Given the description of an element on the screen output the (x, y) to click on. 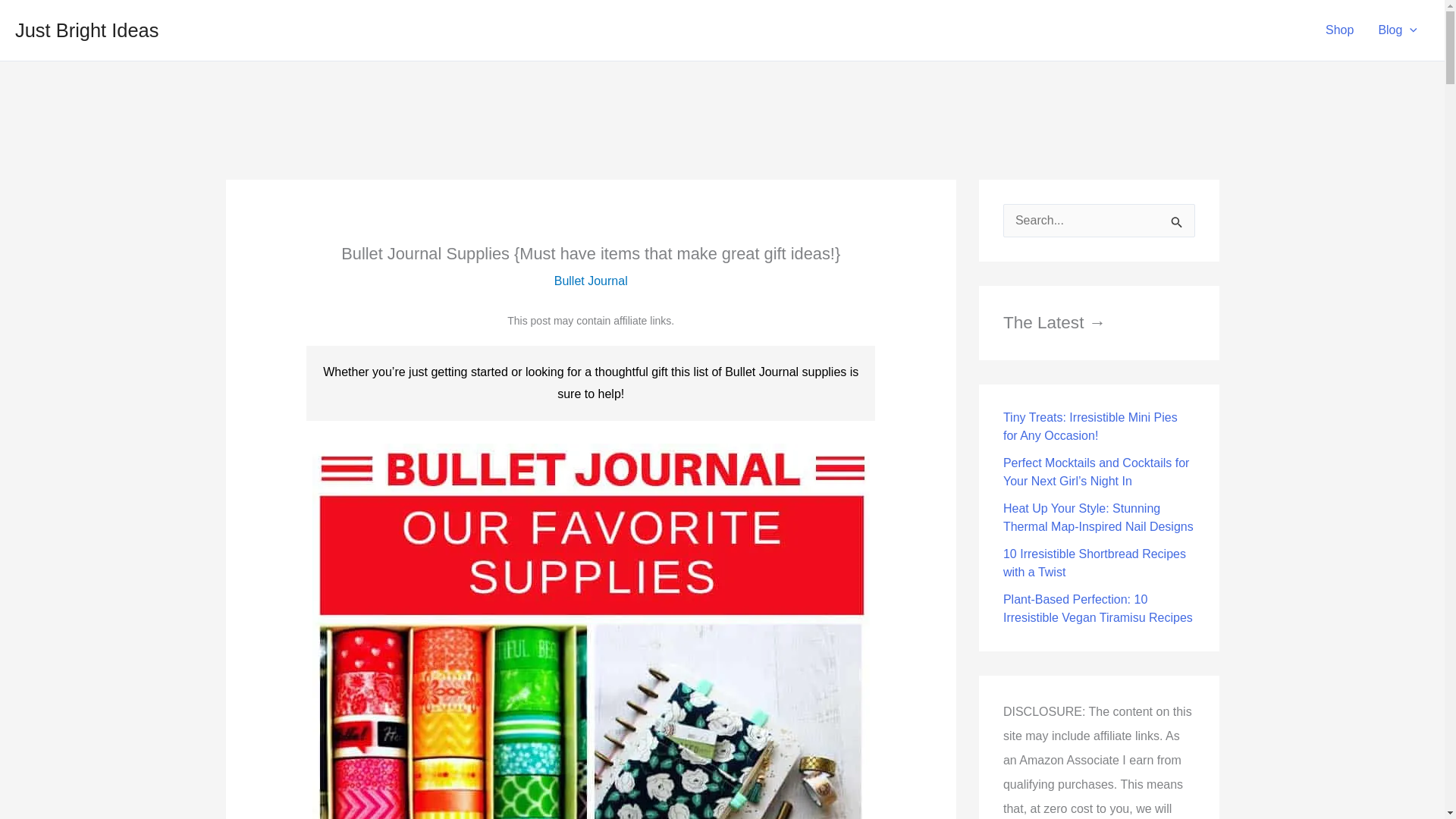
Just Bright Ideas (86, 29)
Blog (1397, 30)
Bullet Journal (590, 280)
